Given the description of an element on the screen output the (x, y) to click on. 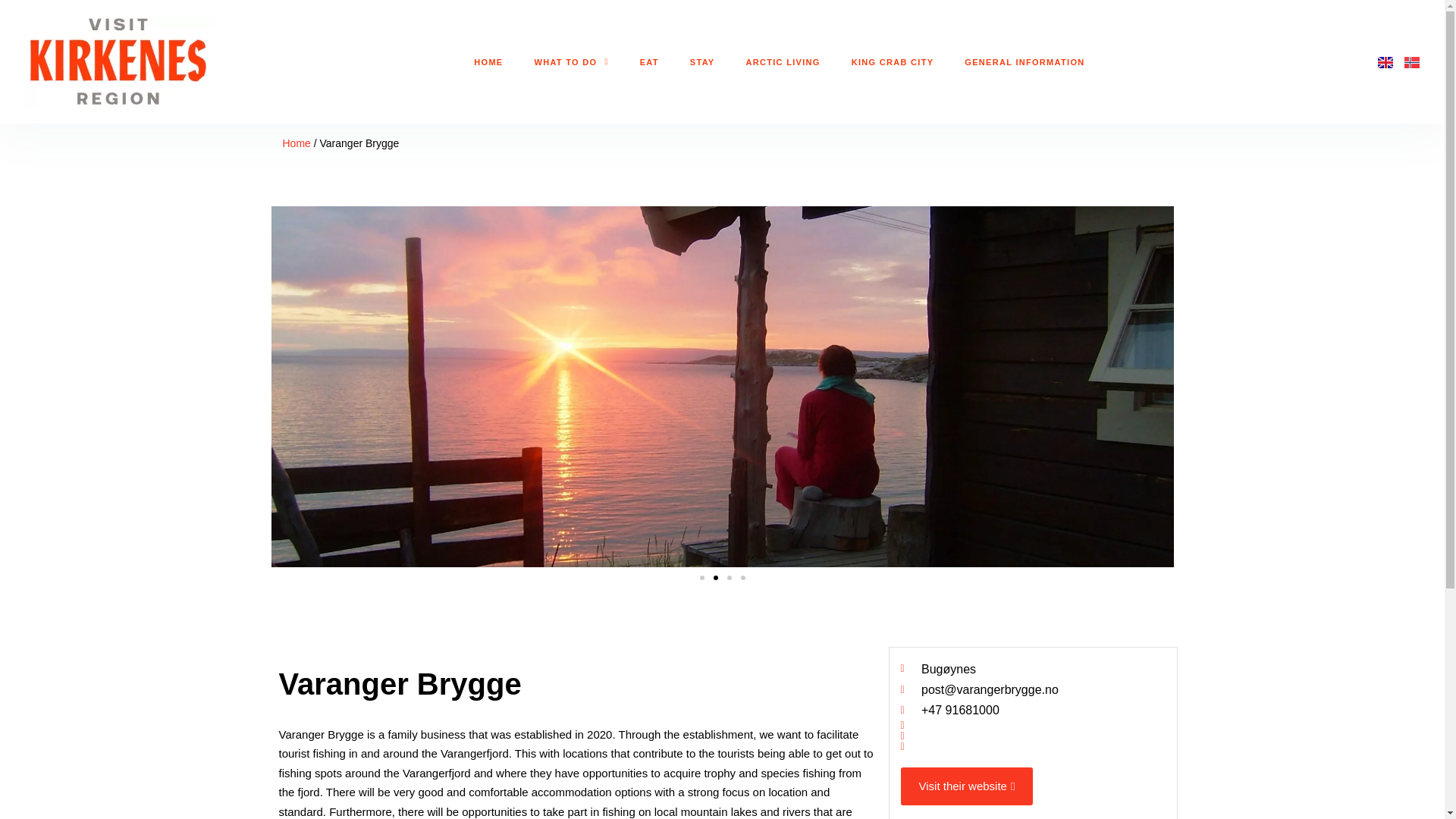
WHAT TO DO (570, 61)
Visit their website (967, 786)
HOME (488, 61)
KING CRAB CITY (893, 61)
ARCTIC LIVING (782, 61)
EAT (649, 61)
Home (296, 143)
STAY (702, 61)
GENERAL INFORMATION (1024, 61)
